Given the description of an element on the screen output the (x, y) to click on. 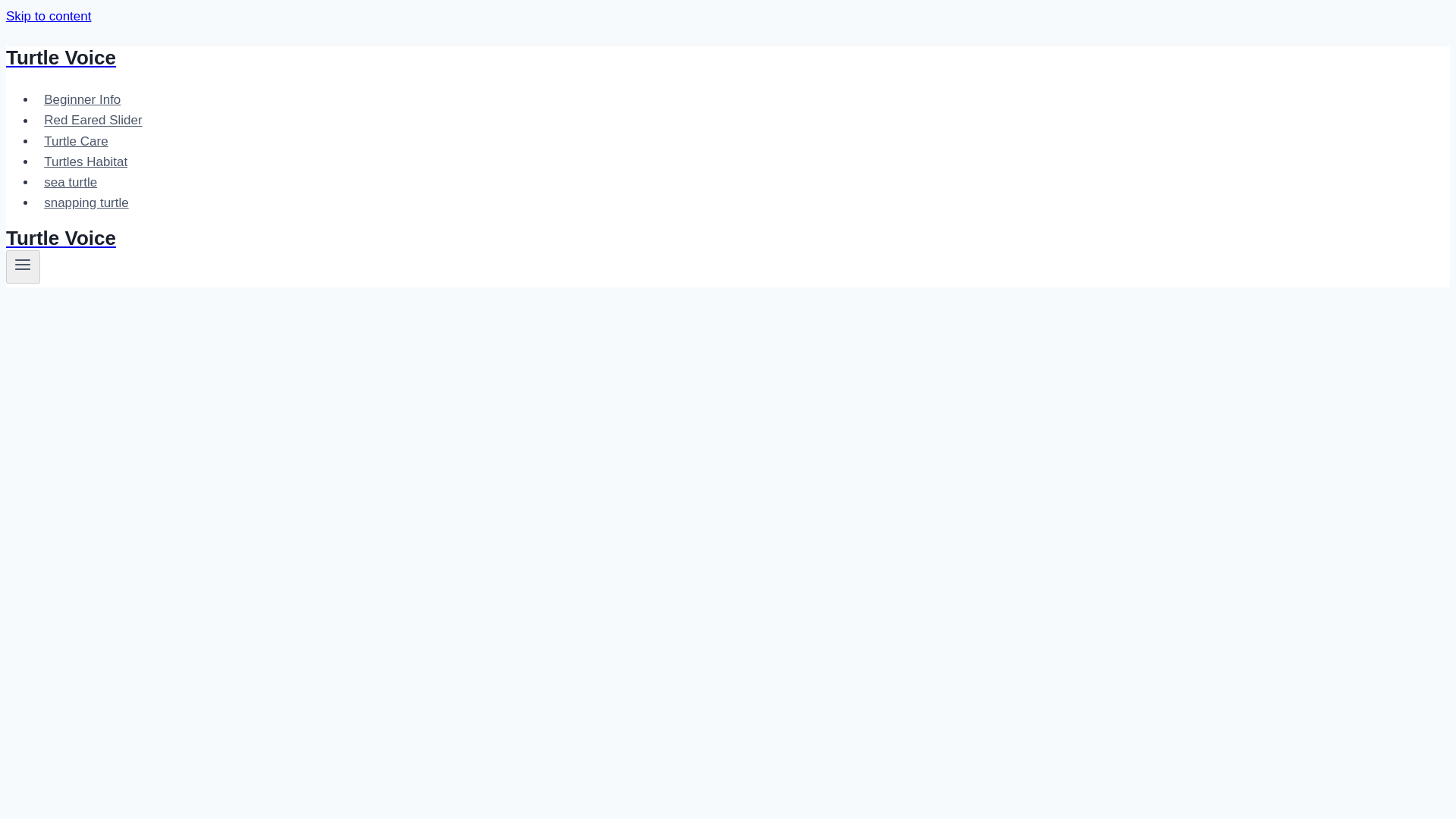
Turtle Voice (494, 237)
snapping turtle (86, 202)
Turtles Habitat (85, 161)
Toggle Menu (22, 264)
Skip to content (47, 16)
Turtle Care (76, 141)
Turtle Voice (494, 57)
sea turtle (70, 182)
Skip to content (47, 16)
Red Eared Slider (92, 120)
Beginner Info (82, 99)
